Given the description of an element on the screen output the (x, y) to click on. 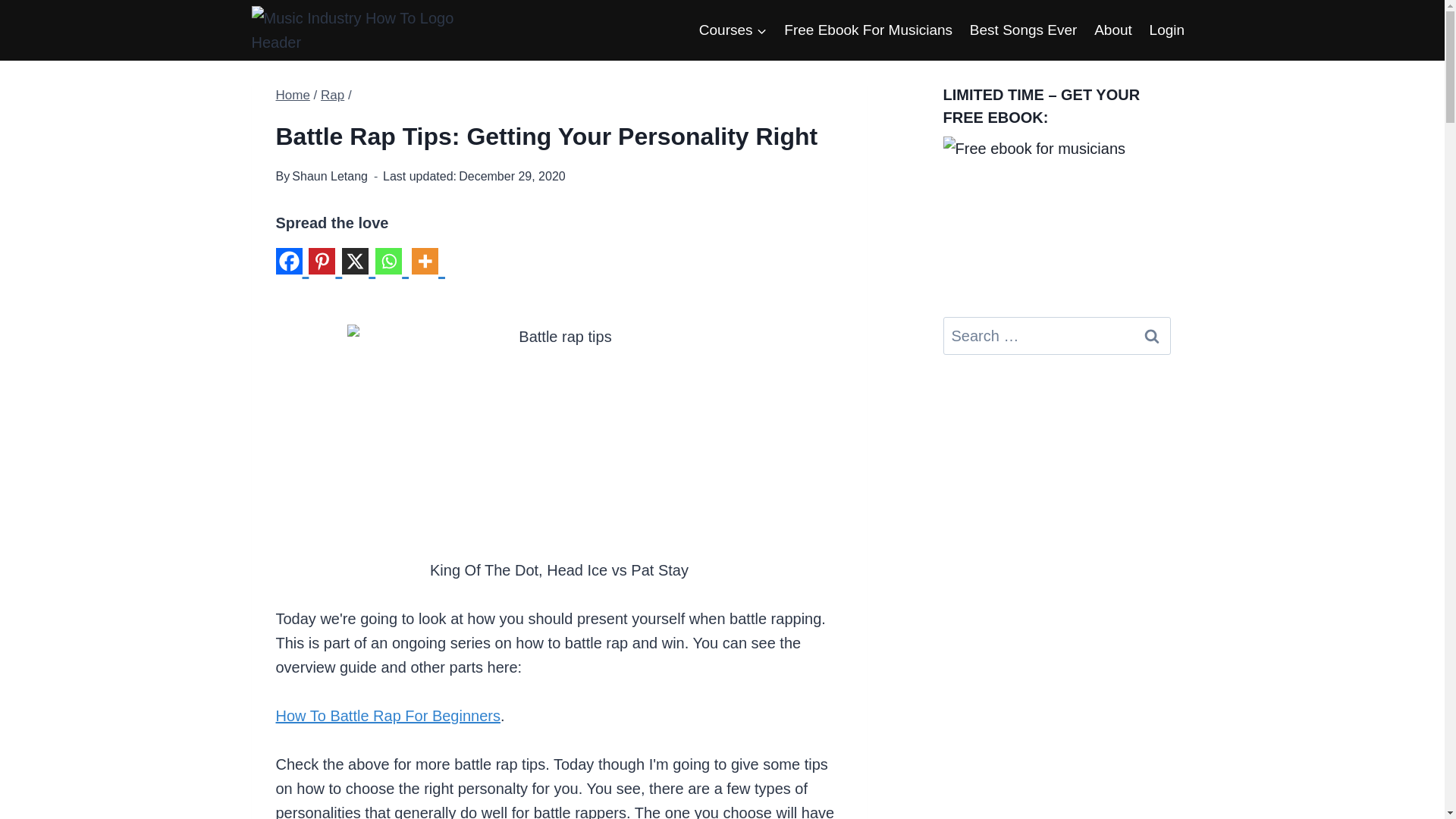
Login (1166, 29)
How To Battle Rap For Beginners (388, 715)
About (1113, 29)
Courses (733, 29)
Rap (331, 94)
Search (1151, 335)
Best Songs Ever (1022, 29)
Shaun Letang (330, 175)
Search (1151, 335)
